Given the description of an element on the screen output the (x, y) to click on. 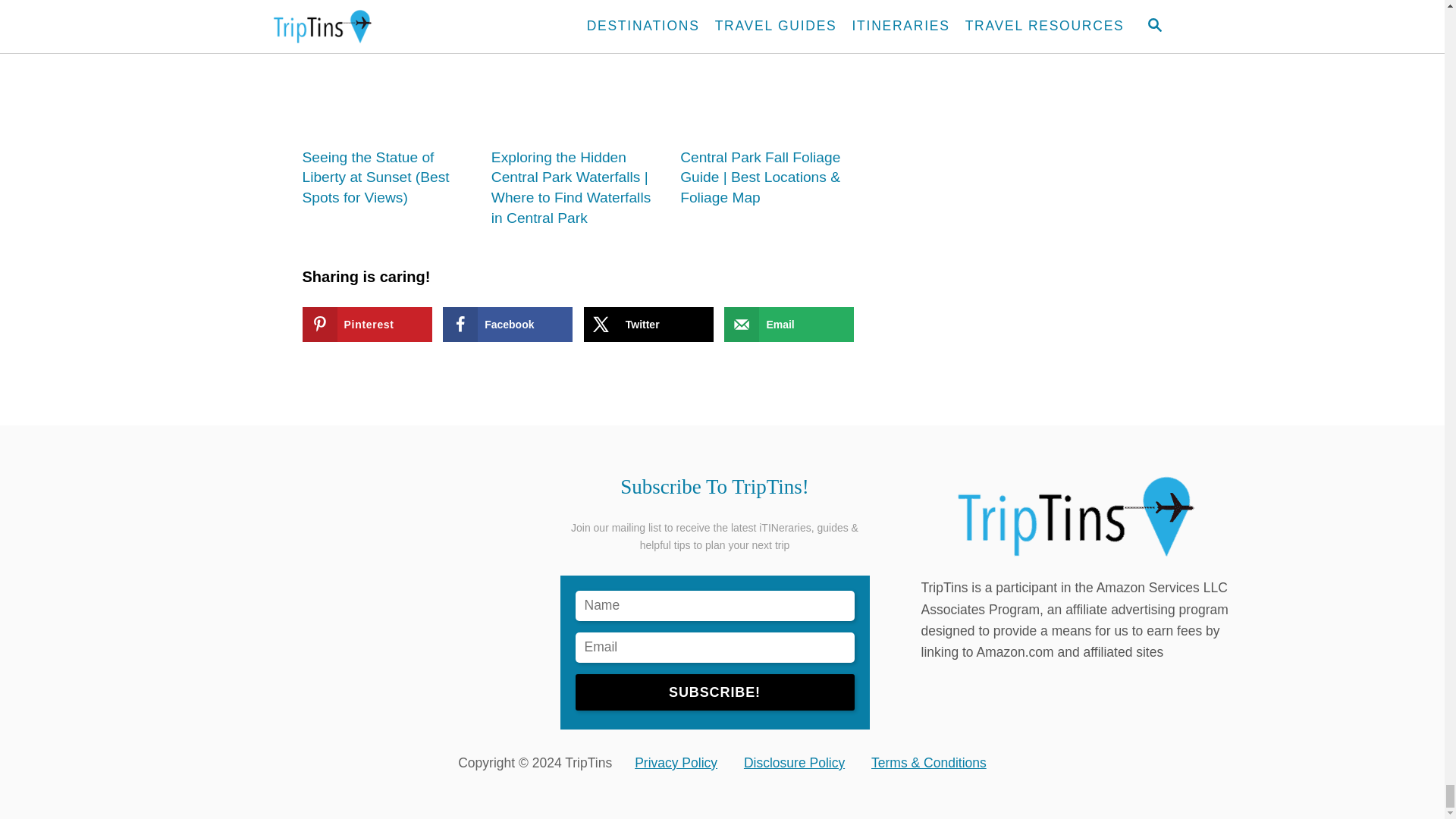
Save to Pinterest (365, 324)
Share on X (648, 324)
Share on Facebook (507, 324)
Send over email (788, 324)
